Given the description of an element on the screen output the (x, y) to click on. 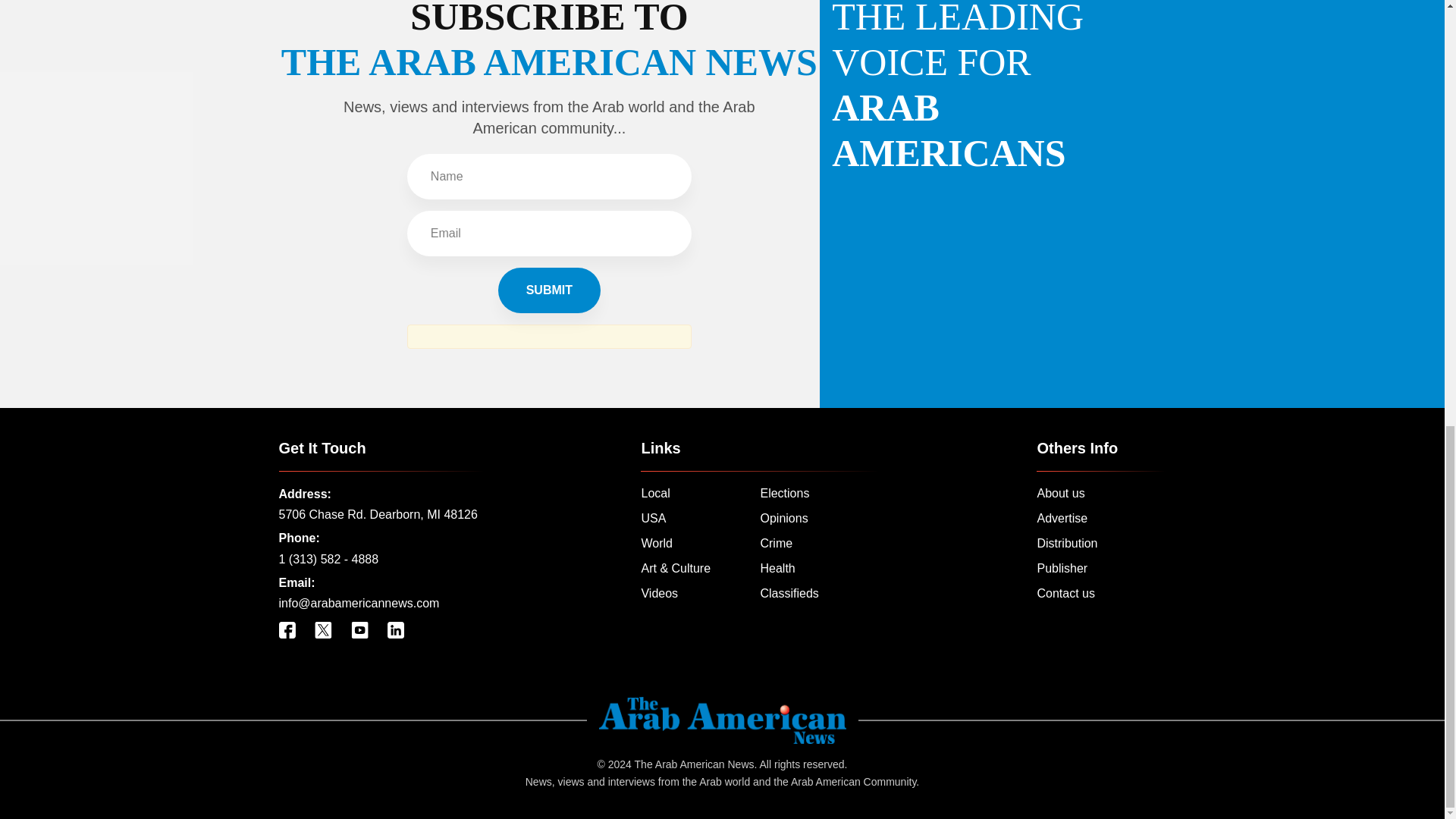
Submit (548, 289)
